Given the description of an element on the screen output the (x, y) to click on. 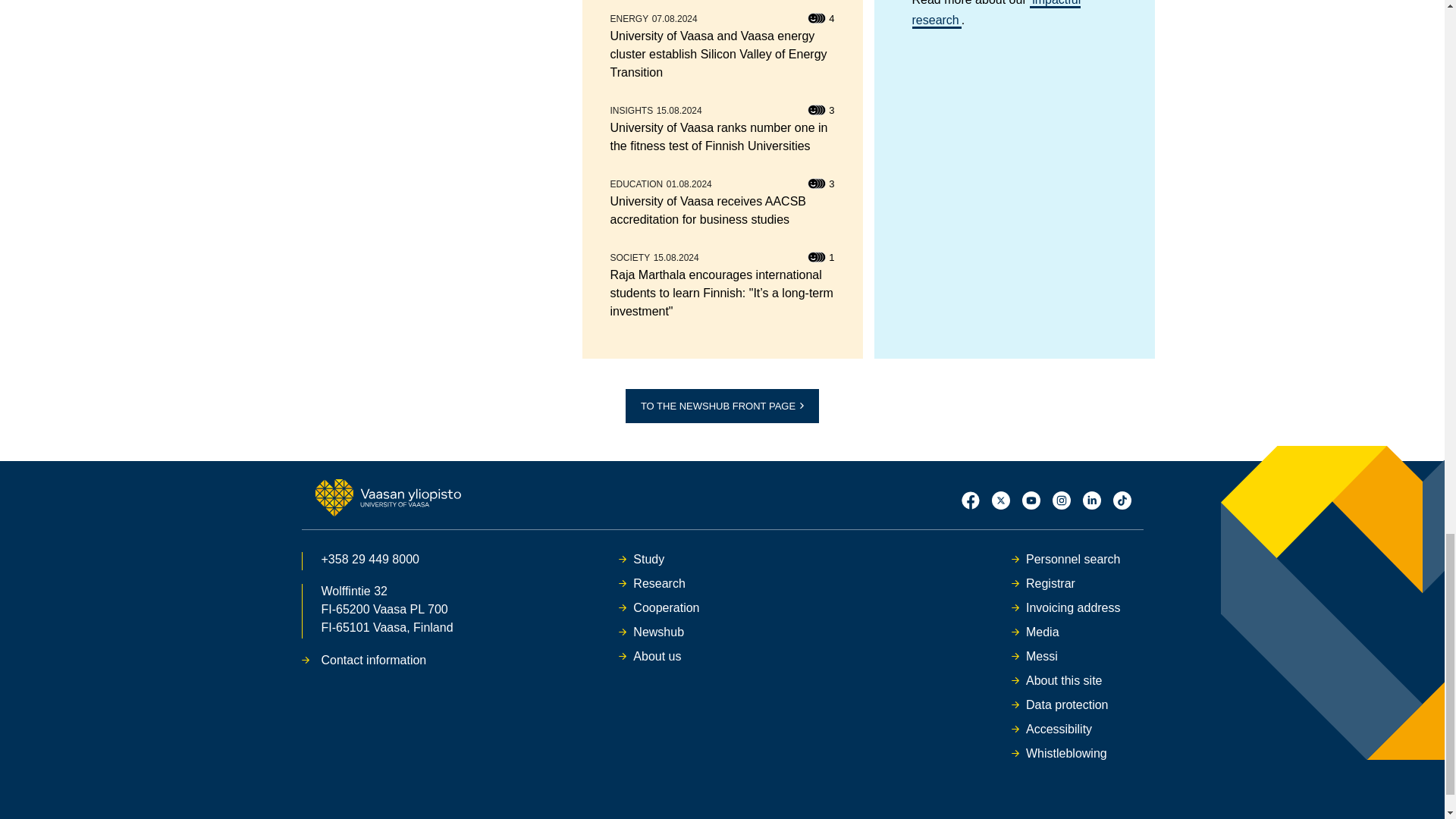
X (1000, 500)
Facebook (969, 500)
Front page (388, 497)
Instagram (1061, 500)
TO THE NEWSHUB FRONT PAGE (722, 406)
TikTok (1122, 500)
Youtube (1031, 500)
